Given the description of an element on the screen output the (x, y) to click on. 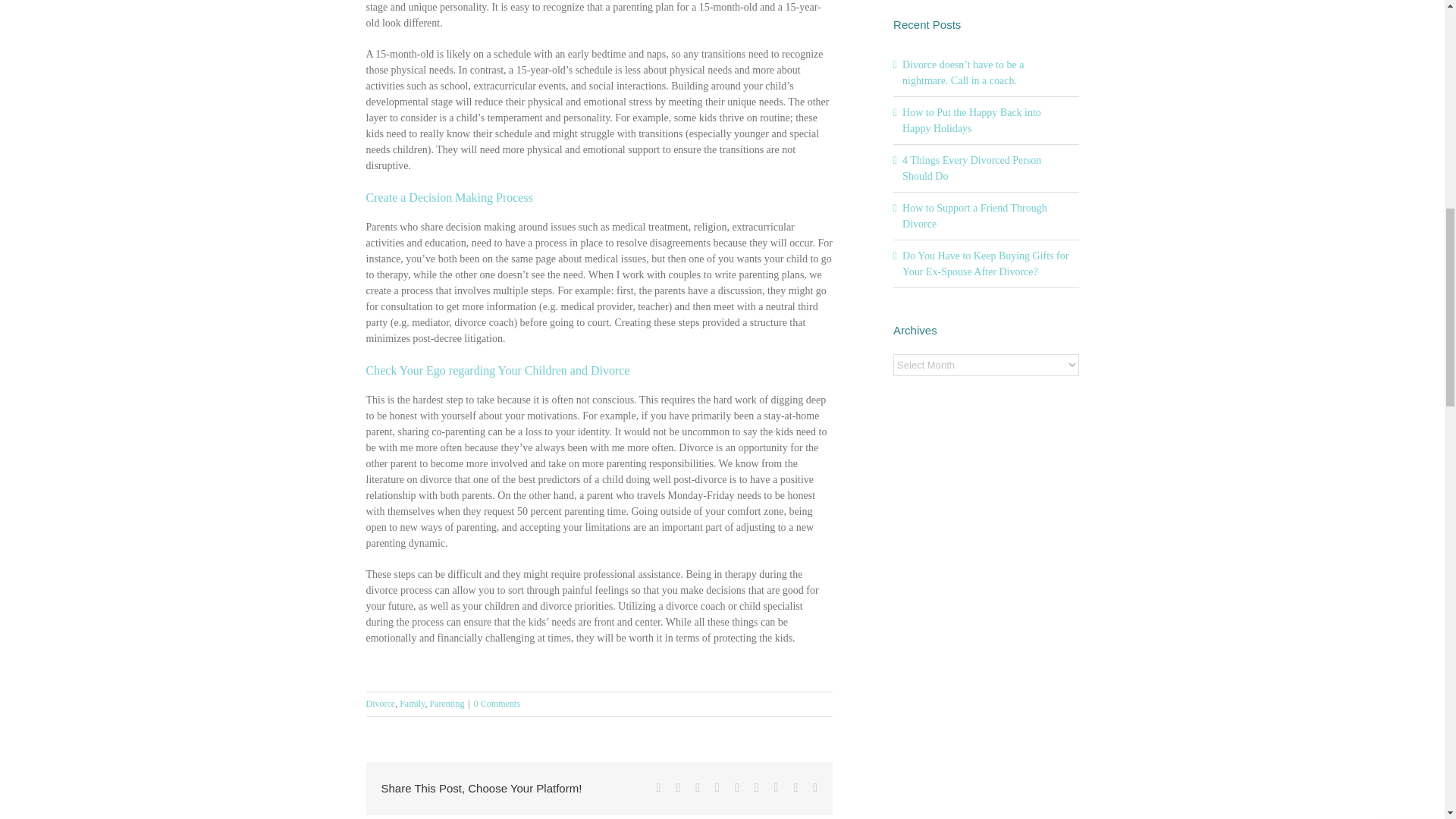
0 Comments (496, 703)
Sign me up! (1361, 197)
Parenting (446, 703)
Divorce (379, 703)
Enter email address (1358, 167)
Family (411, 703)
